Given the description of an element on the screen output the (x, y) to click on. 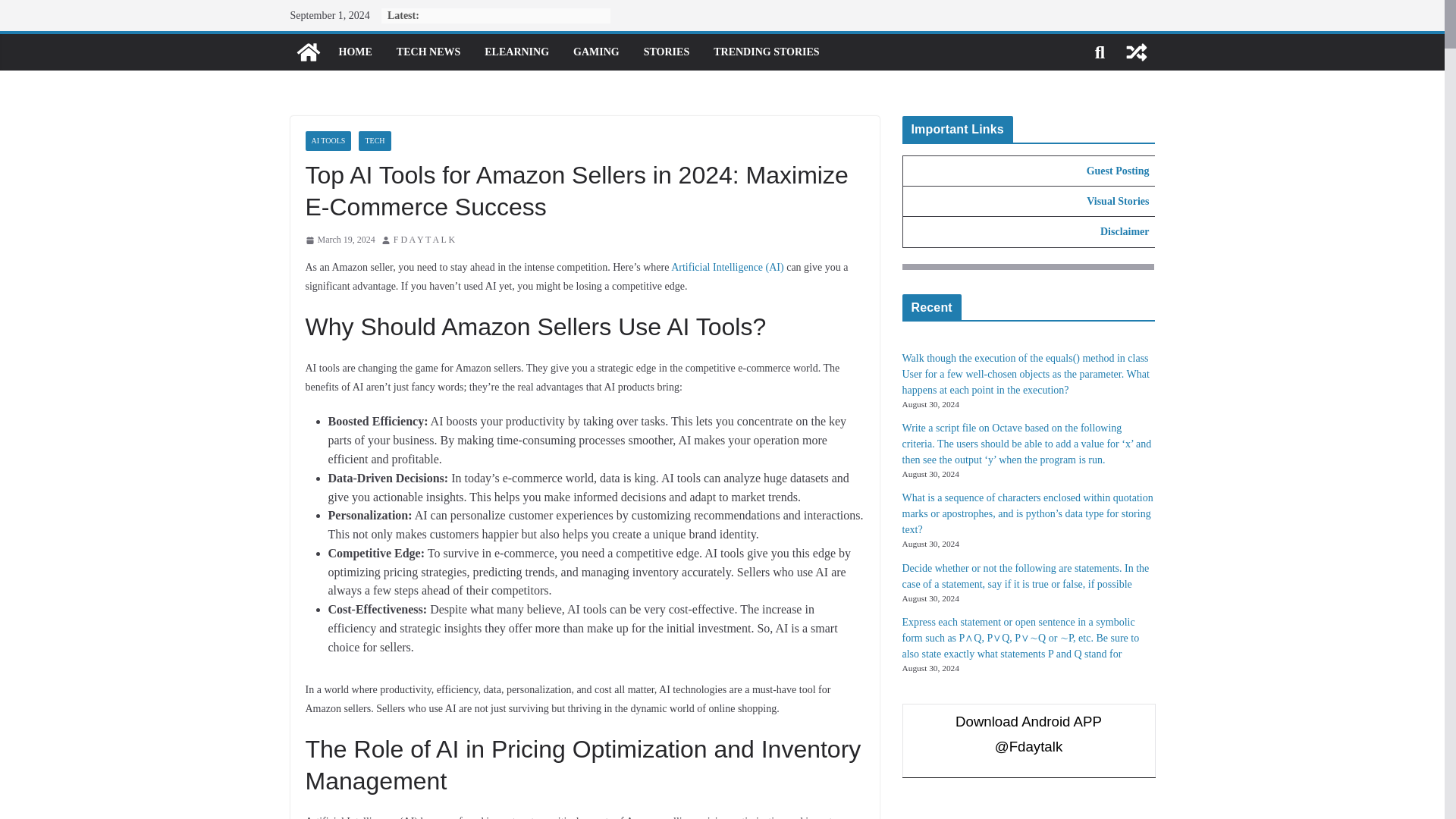
F D A Y T A L K (423, 239)
AI TOOLS (327, 140)
Guest Posting (1118, 170)
View a random post (1136, 52)
TECH NEWS (428, 52)
Disclaimer (1125, 231)
March 19, 2024 (339, 239)
F D A Y T A L K (423, 239)
TRENDING STORIES (765, 52)
ELEARNING (516, 52)
